Given the description of an element on the screen output the (x, y) to click on. 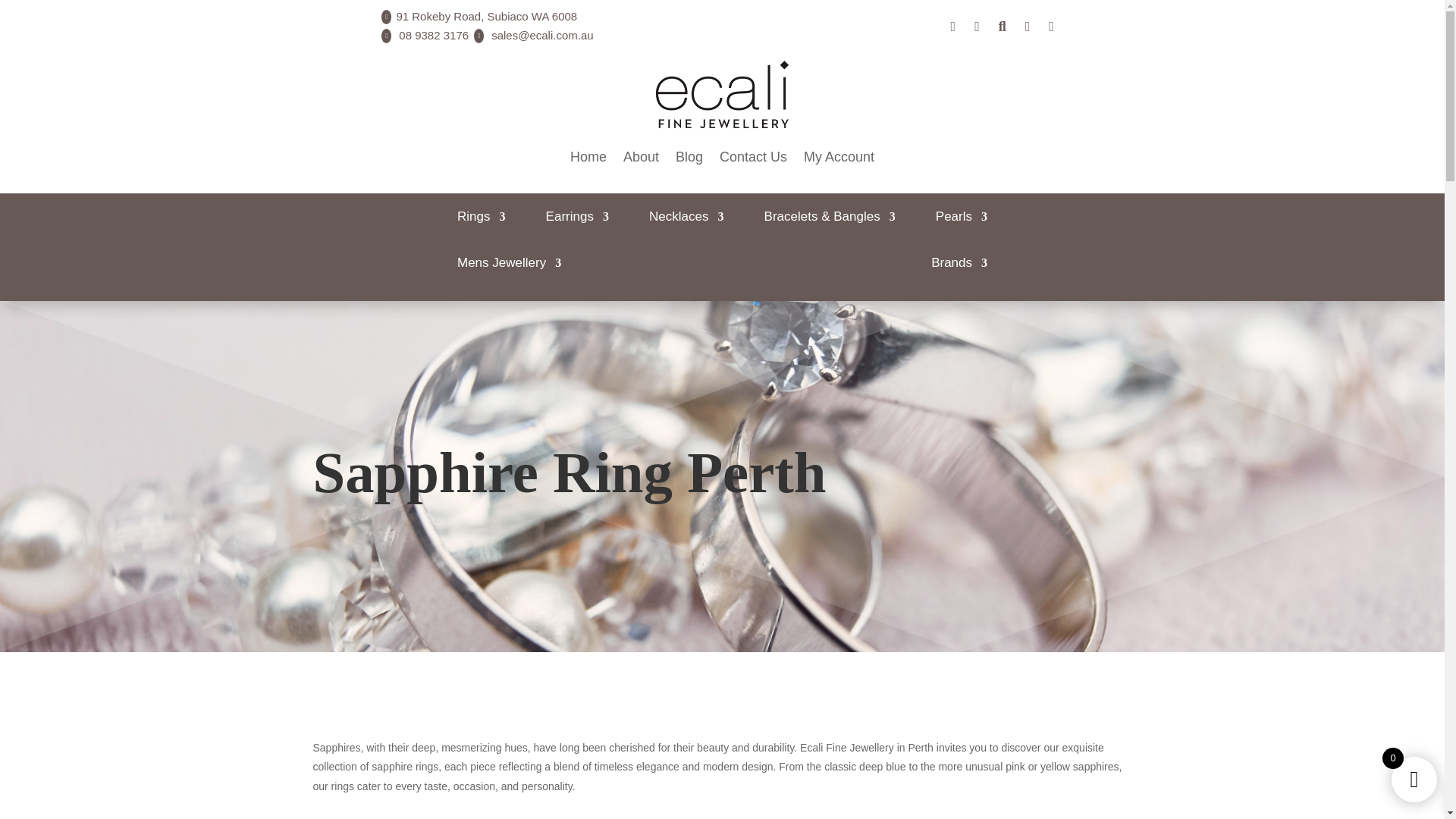
08 9382 3176 (433, 34)
My Account (839, 156)
Rings (481, 219)
Contact Us (753, 156)
91 Rokeby Road, Subiaco WA 6008 (486, 15)
Necklaces (686, 219)
Pearls (961, 219)
Earrings (577, 219)
